Given the description of an element on the screen output the (x, y) to click on. 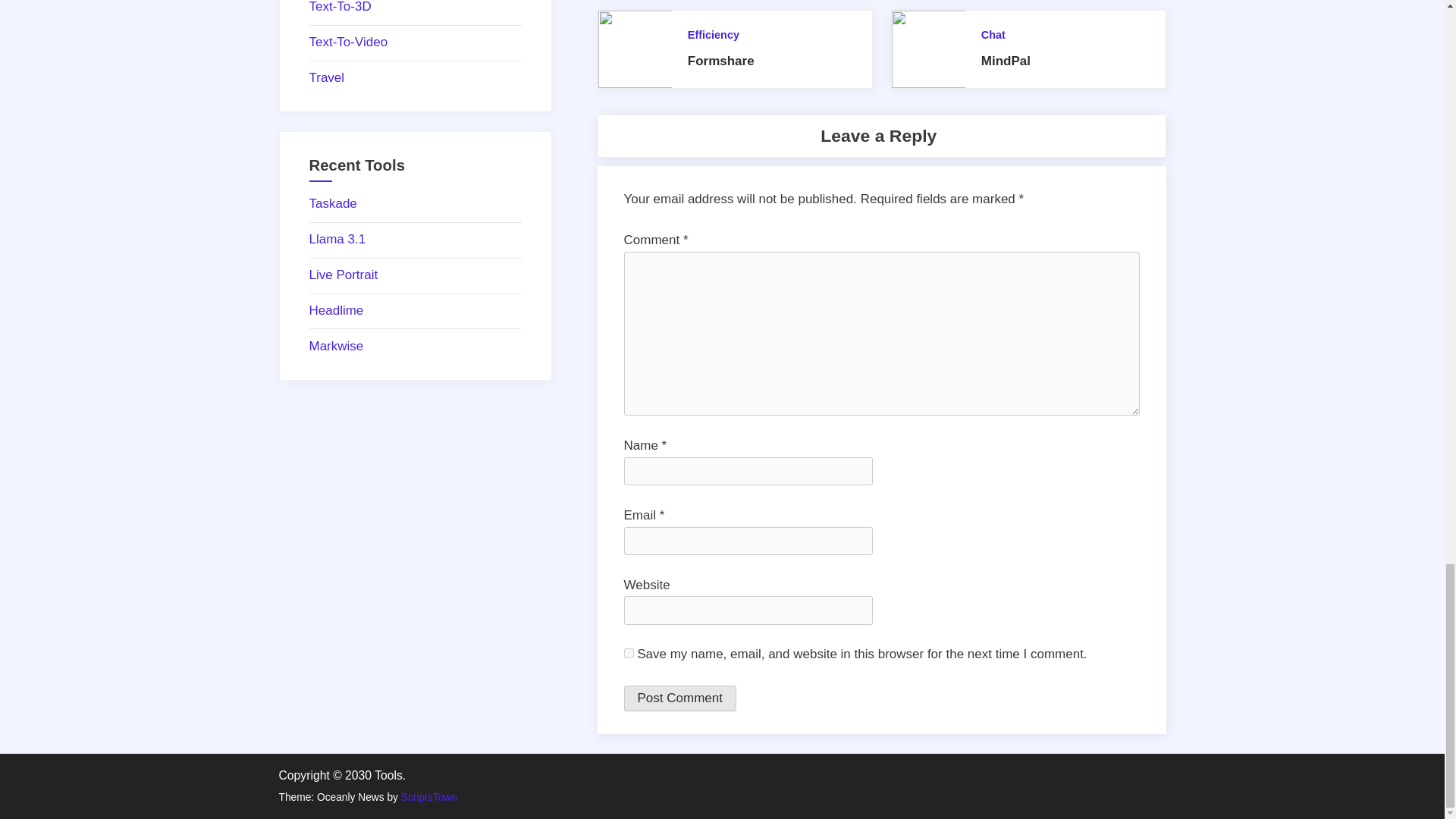
Formshare (720, 60)
Efficiency (713, 34)
Chat (993, 34)
yes (628, 653)
Post Comment (679, 698)
Post Comment (679, 698)
MindPal (1005, 60)
